Given the description of an element on the screen output the (x, y) to click on. 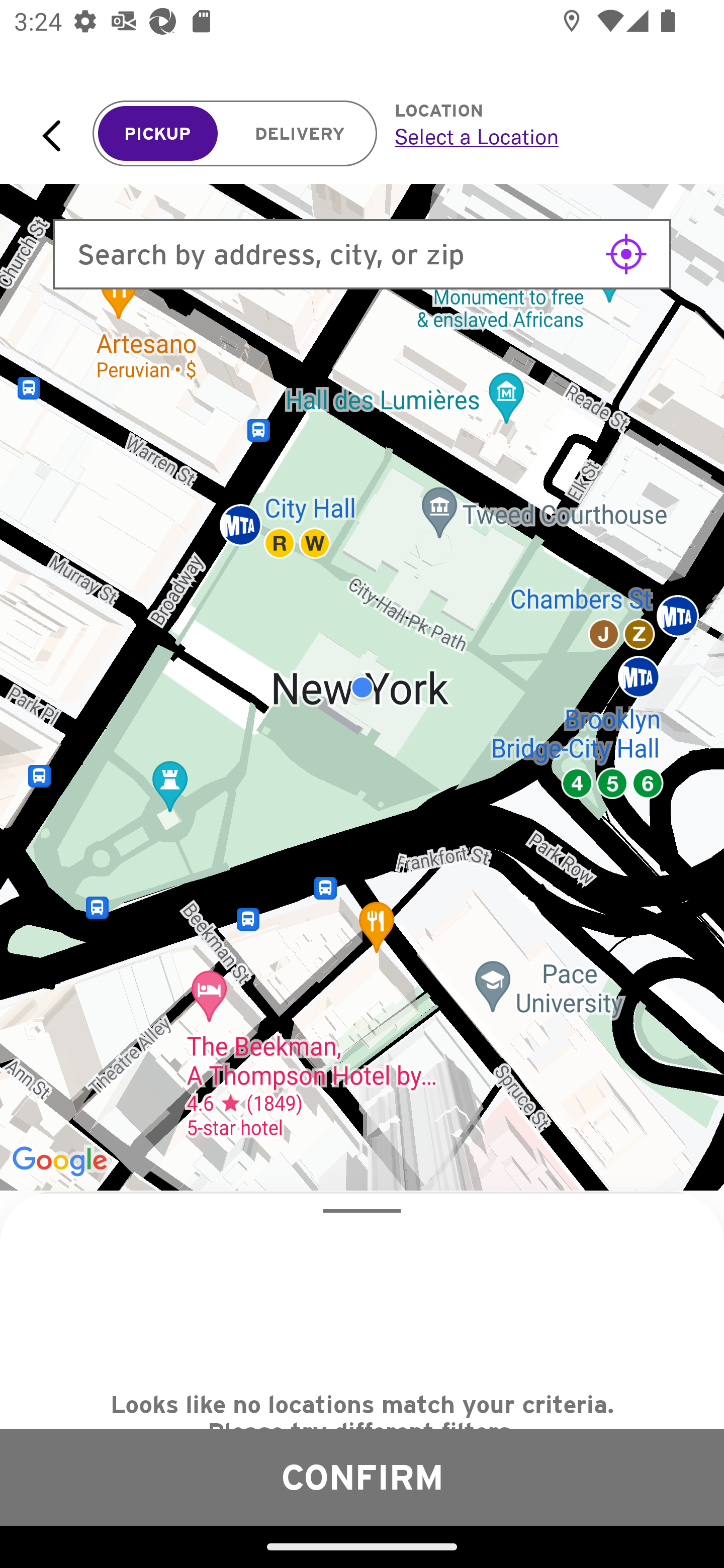
PICKUP (157, 133)
DELIVERY (299, 133)
Select a Location (536, 136)
Search by address, city, or zip (361, 254)
CONFIRM (362, 1476)
